Given the description of an element on the screen output the (x, y) to click on. 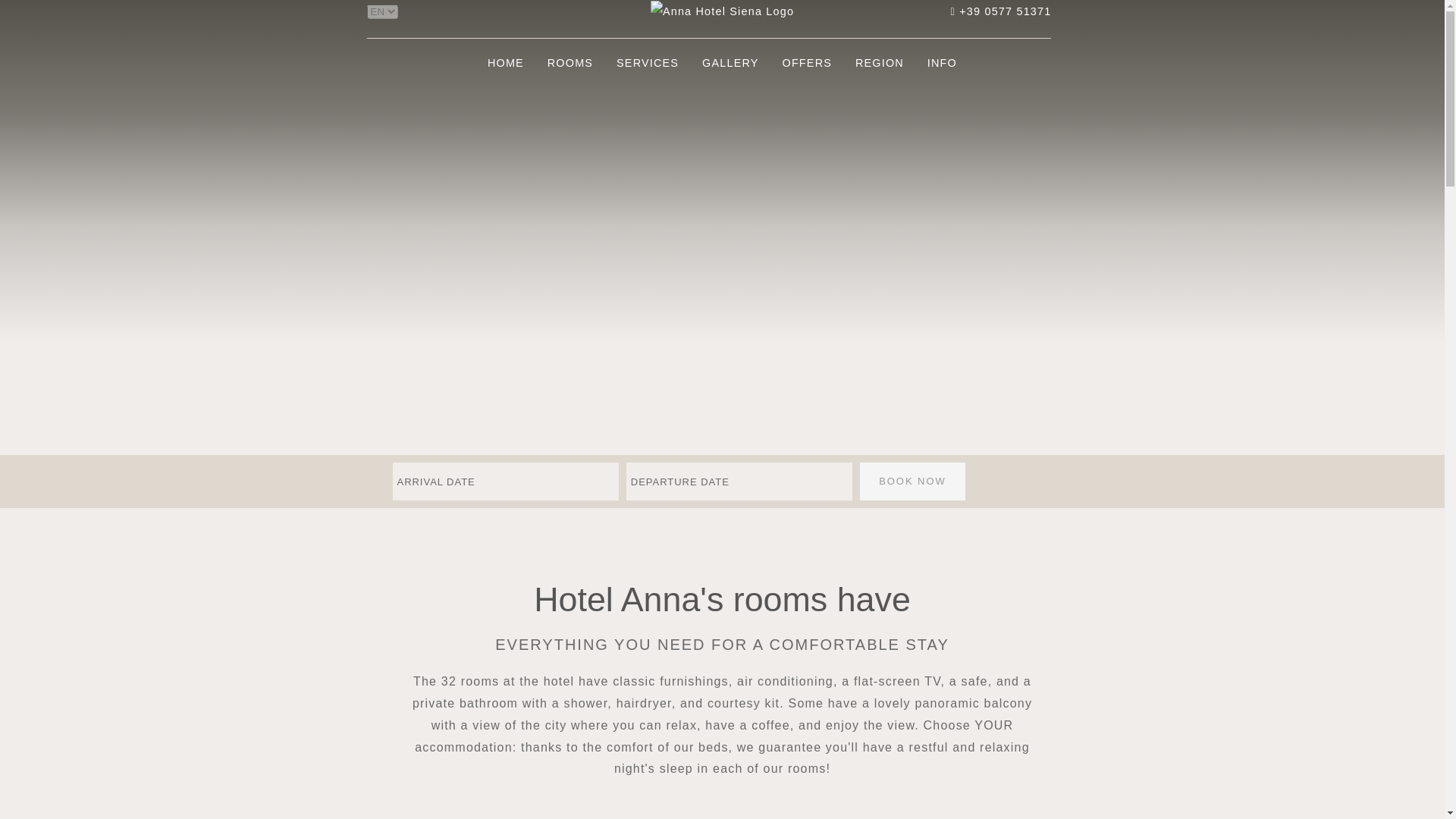
BOOK NOW (912, 481)
HOME (505, 62)
INFO (941, 62)
GALLERY (730, 62)
REGION (879, 62)
OFFERS (806, 62)
SERVICES (647, 62)
ROOMS (569, 62)
